Given the description of an element on the screen output the (x, y) to click on. 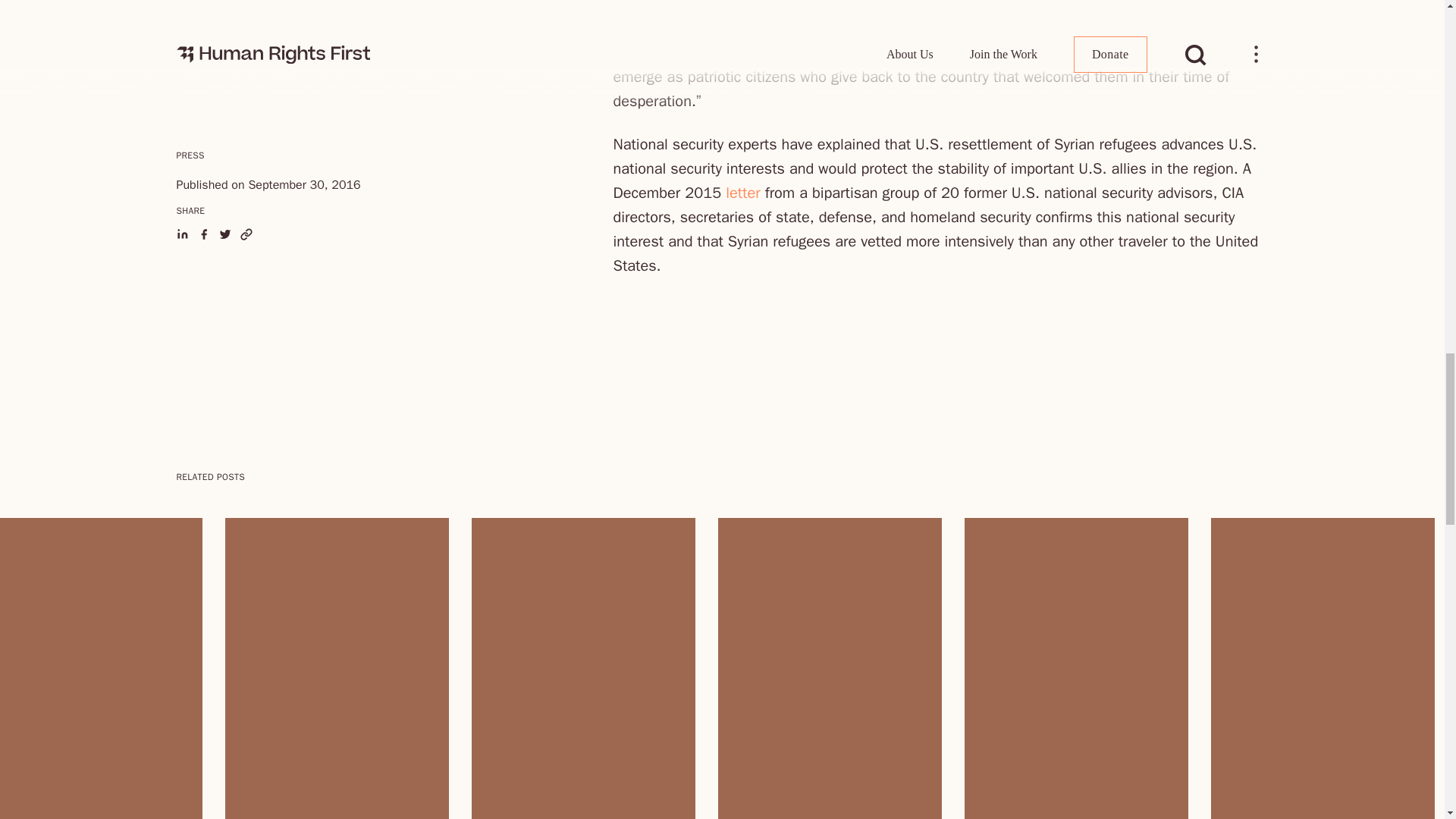
Previous (184, 523)
